Given the description of an element on the screen output the (x, y) to click on. 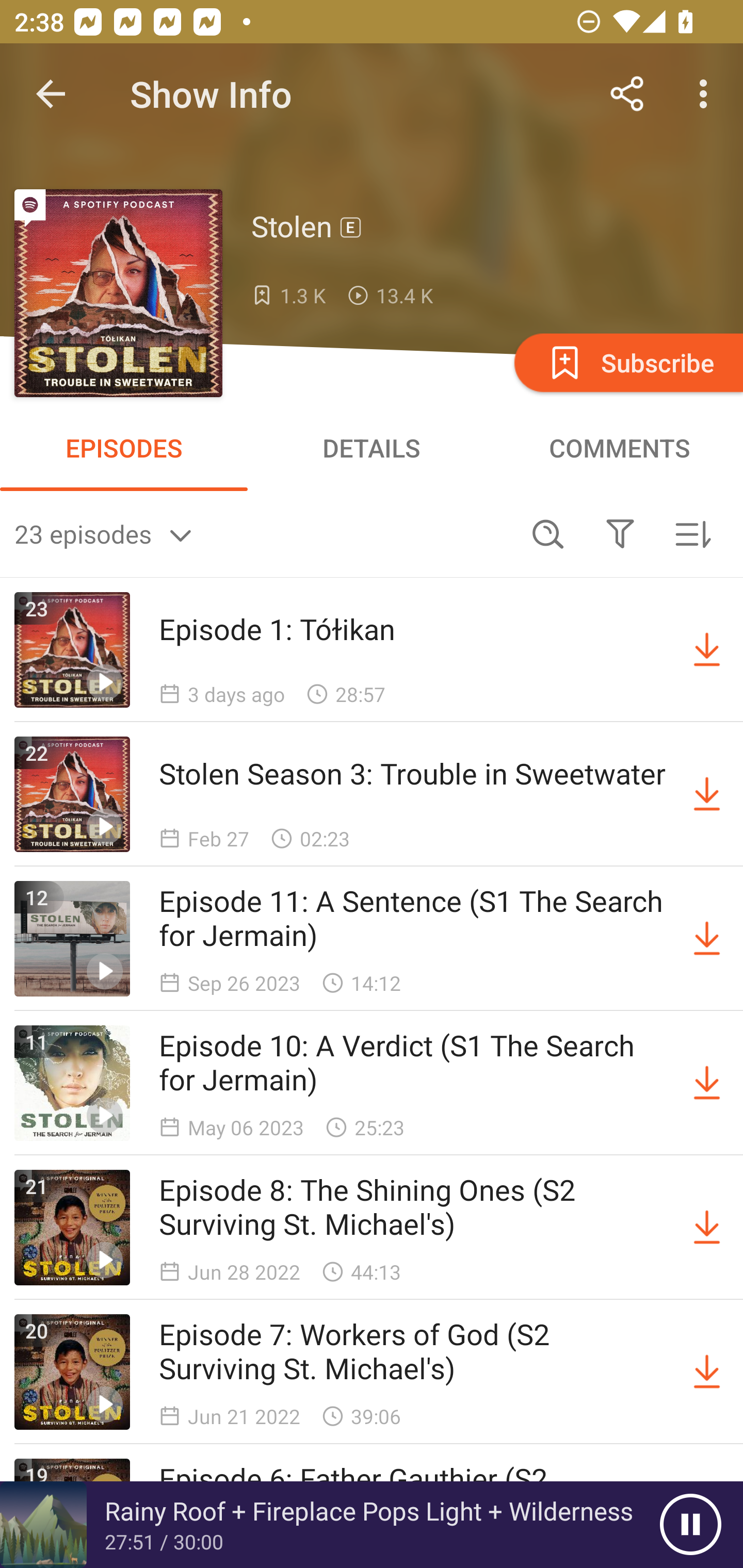
Navigate up (50, 93)
Share (626, 93)
More options (706, 93)
Subscribe (627, 361)
EPISODES (123, 447)
DETAILS (371, 447)
COMMENTS (619, 447)
23 episodes  (262, 533)
 Search (547, 533)
 (619, 533)
 Sorted by newest first (692, 533)
Download (706, 649)
Download (706, 793)
Download (706, 939)
Download (706, 1083)
Download (706, 1227)
Download (706, 1371)
Pause (690, 1524)
